Given the description of an element on the screen output the (x, y) to click on. 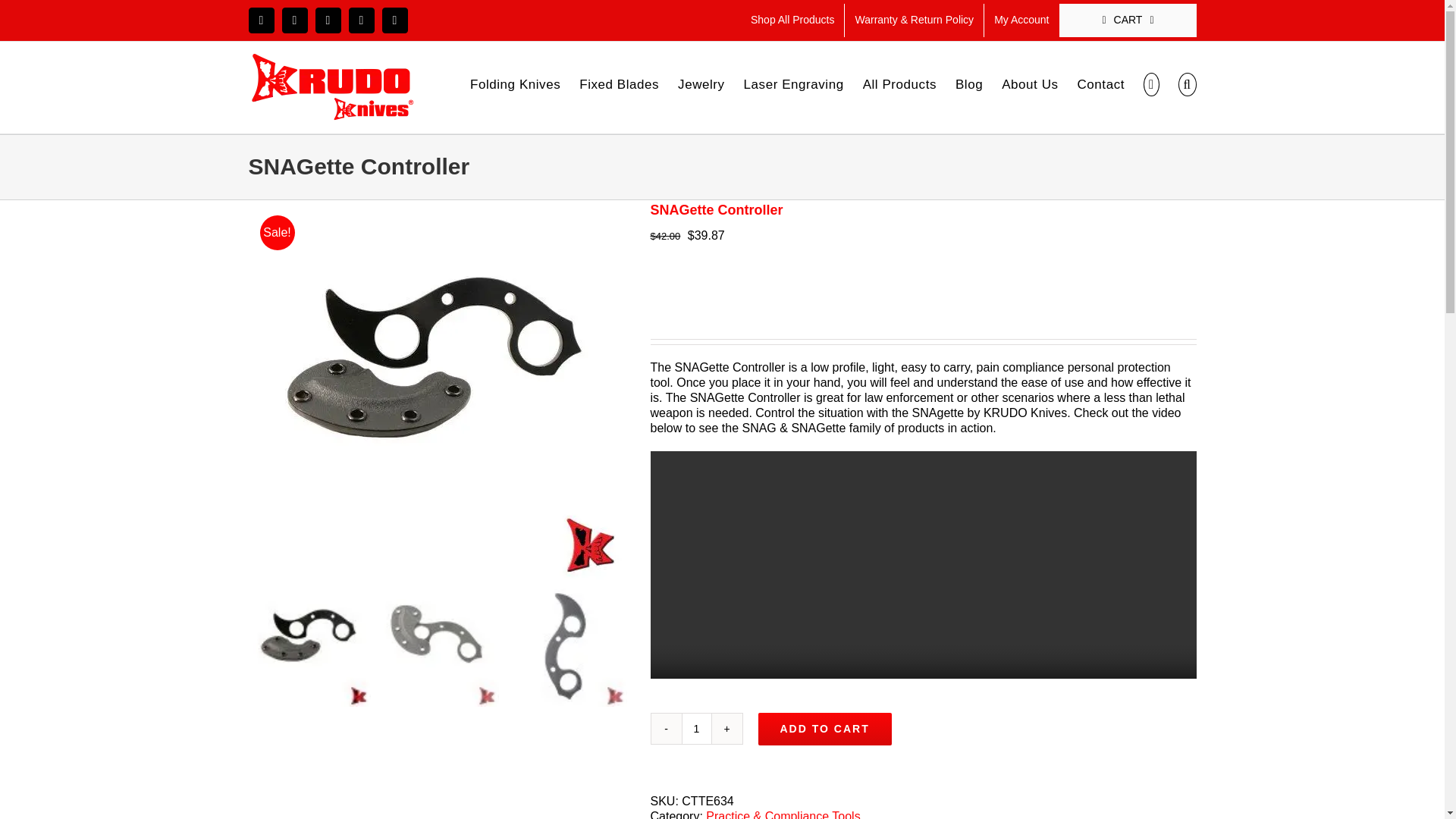
1 (696, 728)
Folding Knives (515, 82)
Laser Engraving (794, 82)
KRUDO Knives Store: Shop All Products (792, 20)
Shop All Products (792, 20)
Facebook (261, 20)
Folding Knives (515, 82)
- (665, 728)
My Account (1021, 20)
X (294, 20)
Fixed Blades (619, 82)
Instagram (361, 20)
YouTube (327, 20)
CART (1127, 20)
Laser Engraving Service (794, 82)
